Given the description of an element on the screen output the (x, y) to click on. 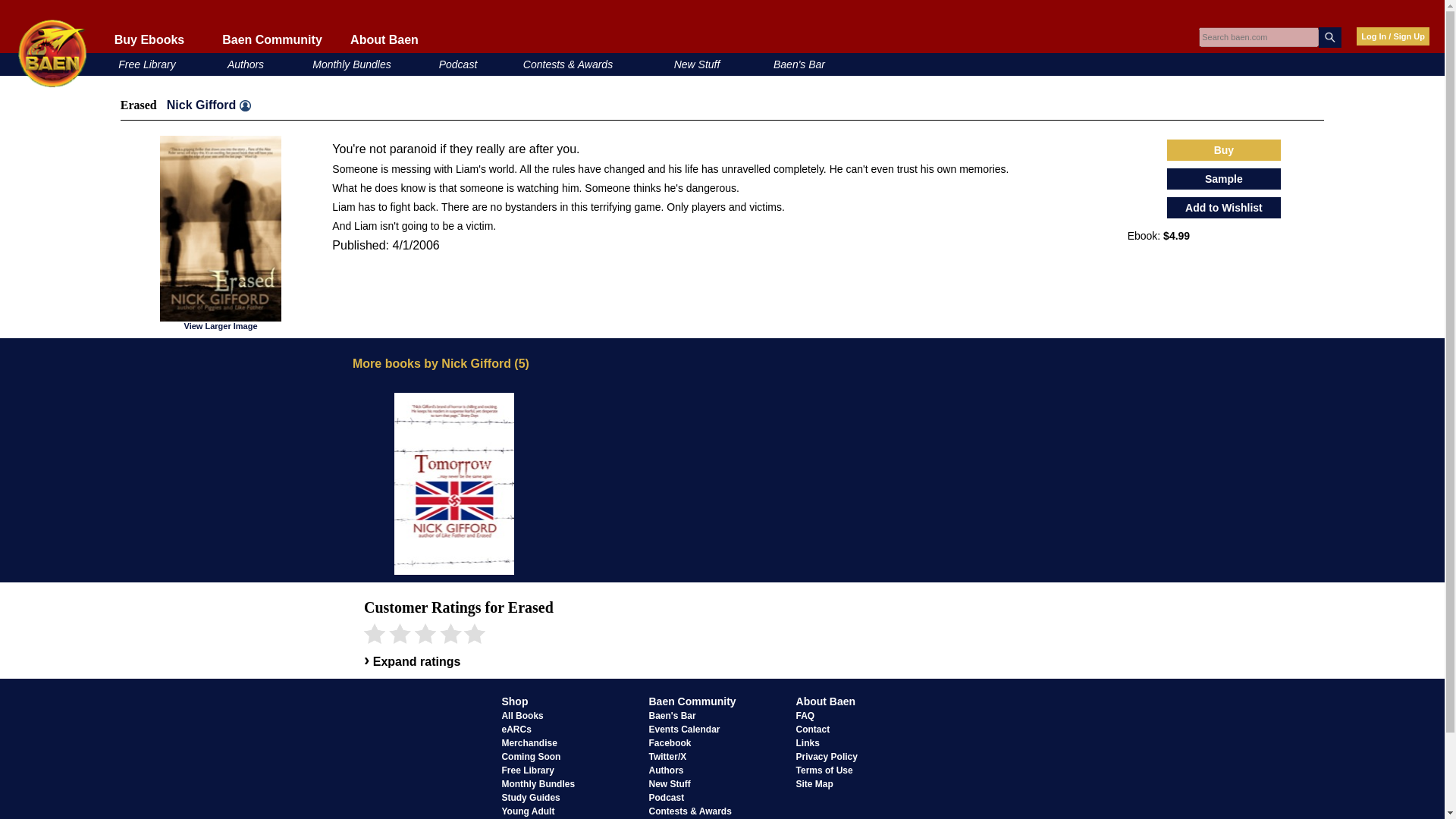
Baen Community (272, 40)
About Baen (384, 40)
Free Library (145, 64)
Podcast (458, 64)
Authors (245, 64)
Buy Ebooks (149, 40)
Baen's Bar (799, 64)
New Stuff (697, 64)
Monthly Bundles (352, 64)
